Given the description of an element on the screen output the (x, y) to click on. 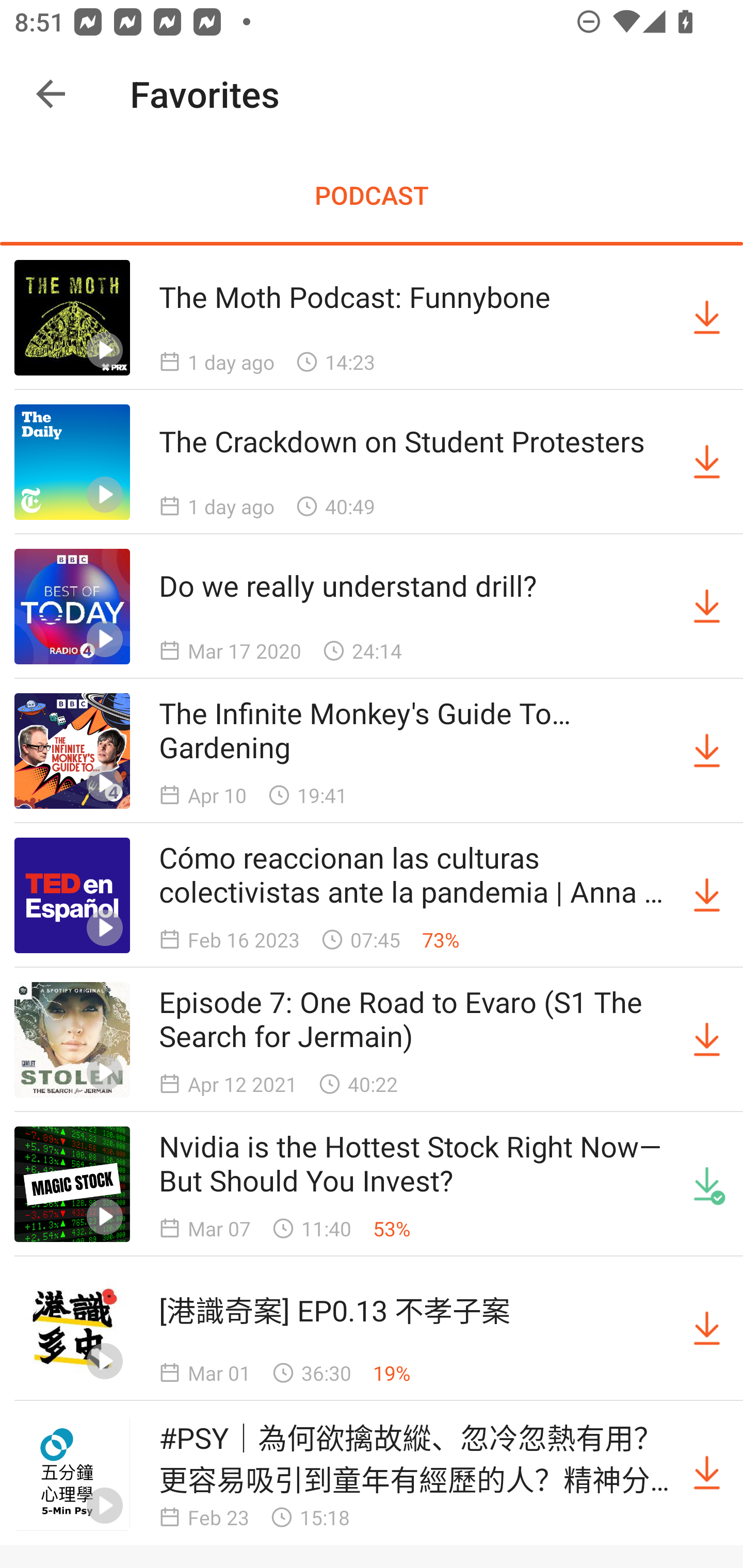
Navigate up (50, 93)
PODCAST (371, 195)
Download (706, 317)
Download (706, 462)
Download (706, 606)
Download (706, 751)
Download (706, 895)
Download (706, 1039)
Downloaded (706, 1183)
Download (706, 1328)
Download (706, 1472)
